Given the description of an element on the screen output the (x, y) to click on. 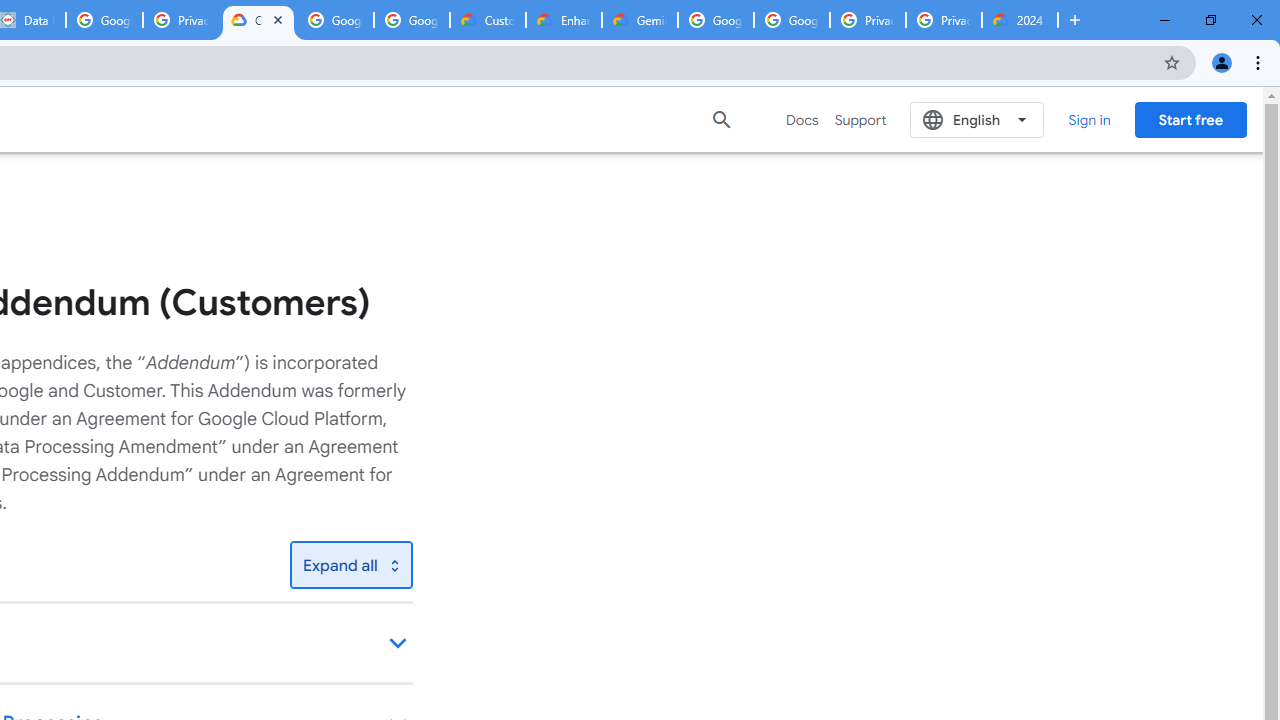
Enhanced Support | Google Cloud (563, 20)
Google Cloud Platform (715, 20)
Customer Care | Google Cloud (488, 20)
